Given the description of an element on the screen output the (x, y) to click on. 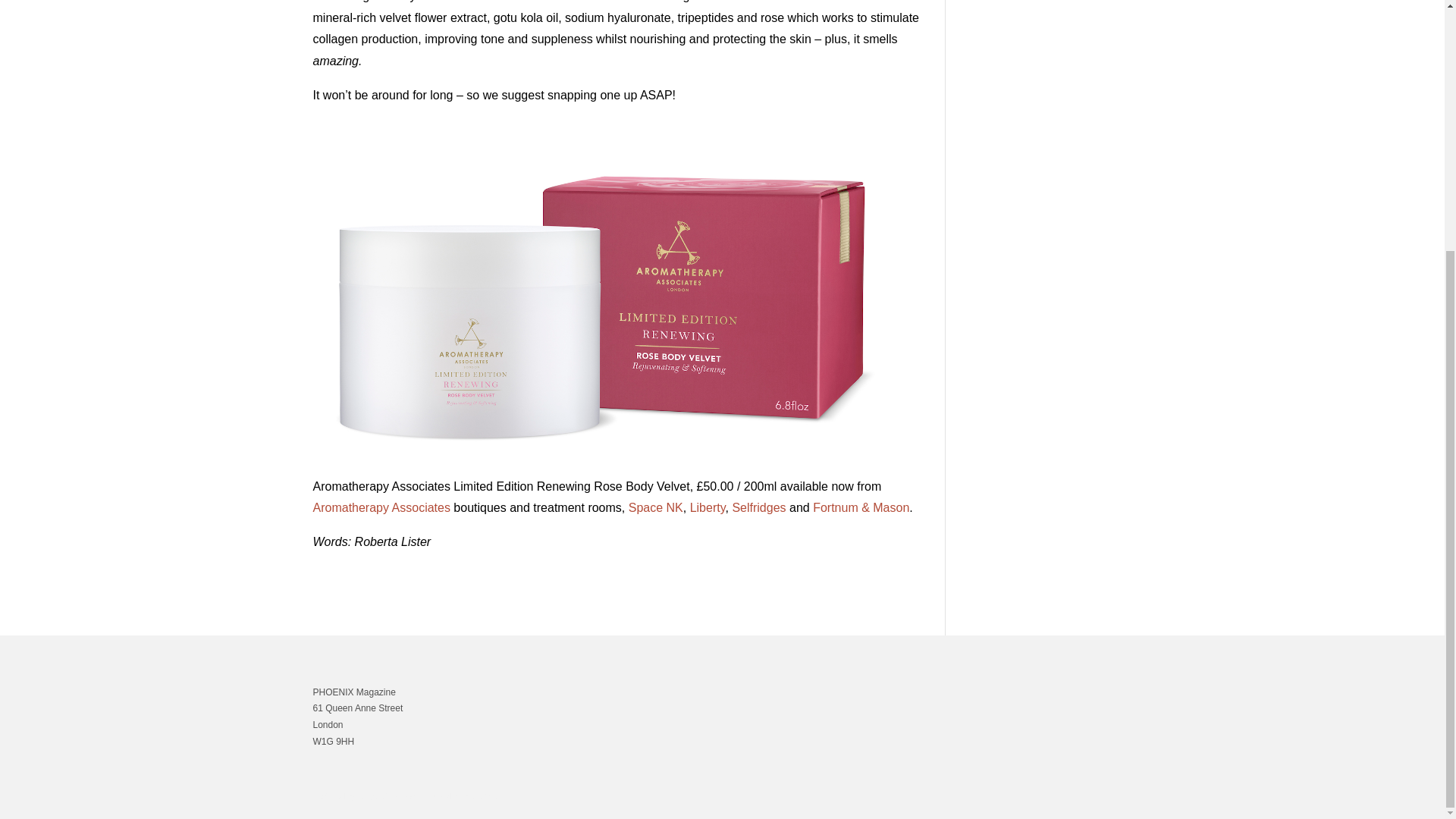
Premium WordPress Themes (385, 796)
